Given the description of an element on the screen output the (x, y) to click on. 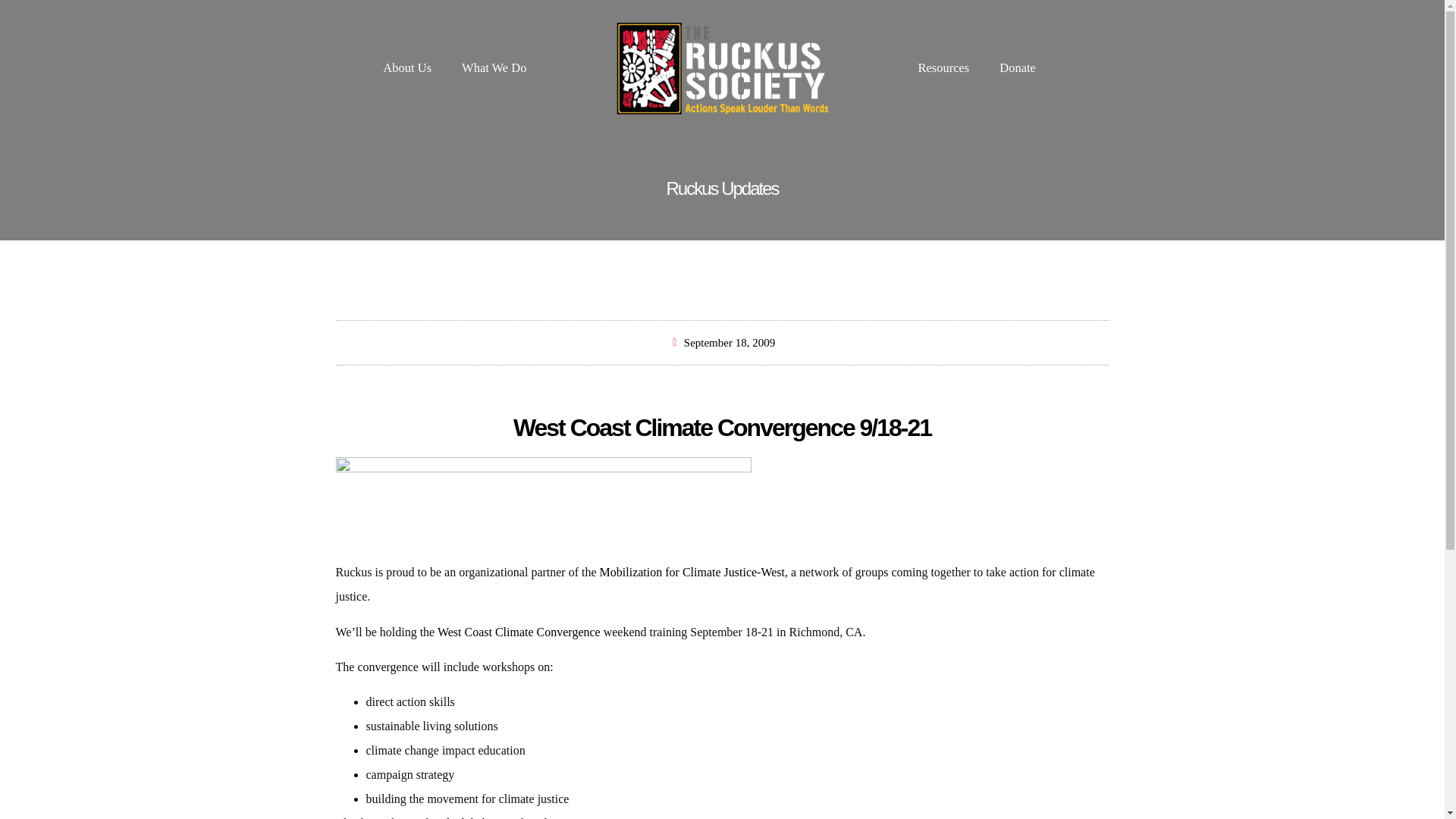
Draft Schedule here (454, 817)
What We Do (493, 67)
apply now (550, 817)
September 18, 2009 (721, 342)
About Us (407, 67)
Resources (943, 67)
Mobilization for Climate Justice-West (691, 571)
Donate (1017, 67)
West Coast Climate Convergence (518, 631)
